Given the description of an element on the screen output the (x, y) to click on. 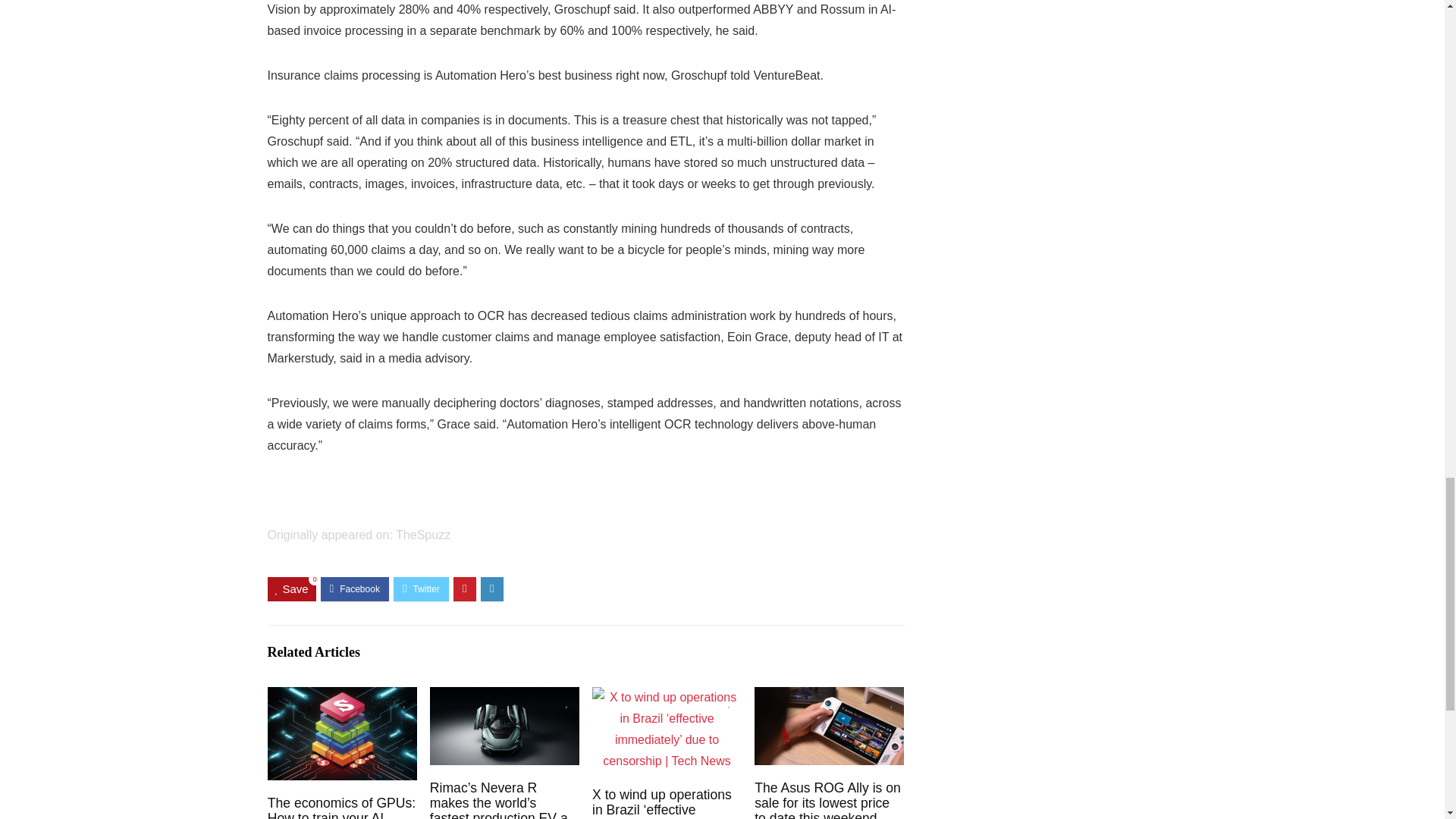
TheSpuzz (422, 533)
